Given the description of an element on the screen output the (x, y) to click on. 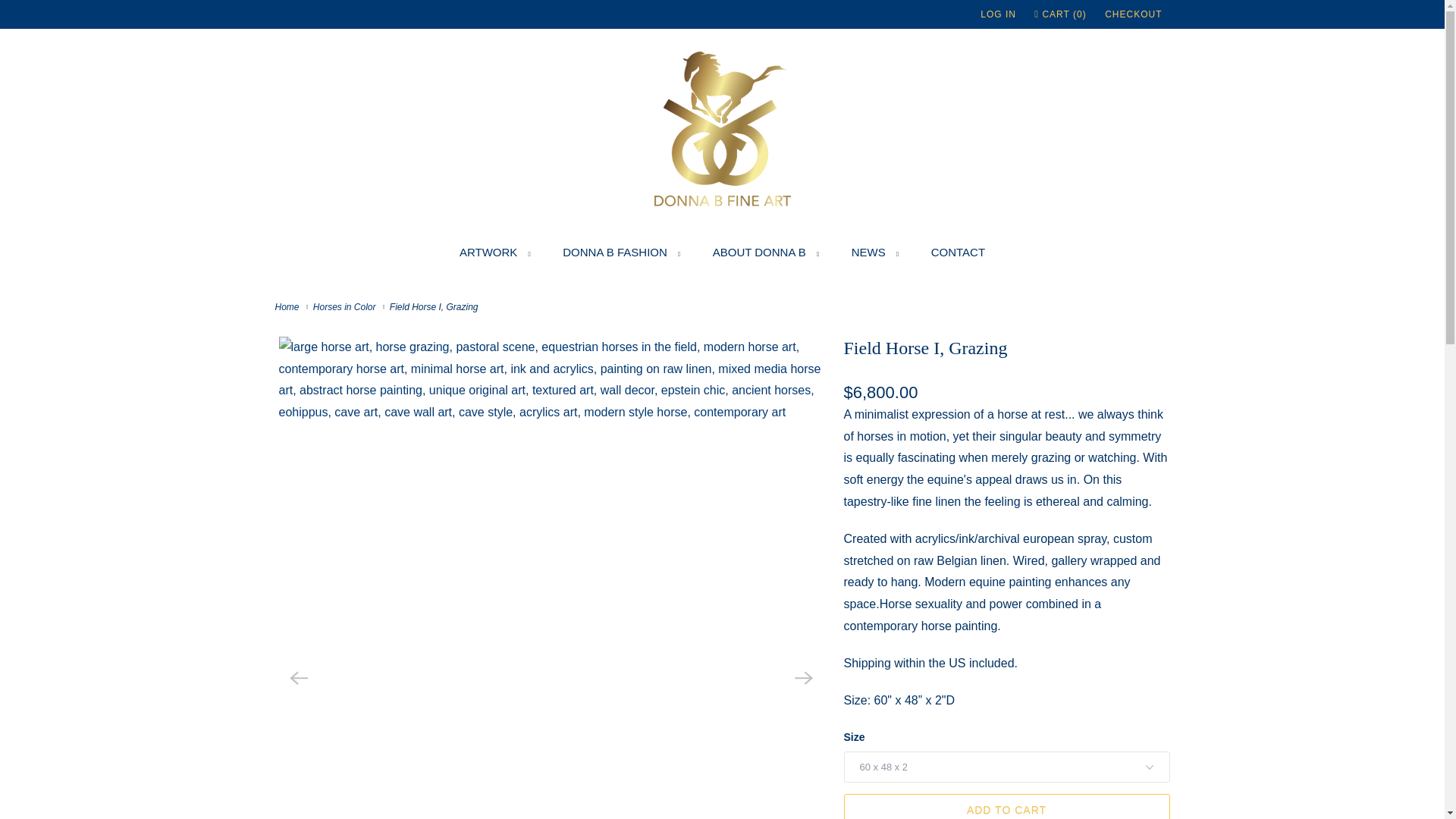
Donna B Fine Art (288, 307)
CHECKOUT (1133, 14)
Horses in Color (346, 307)
LOG IN (997, 14)
